Given the description of an element on the screen output the (x, y) to click on. 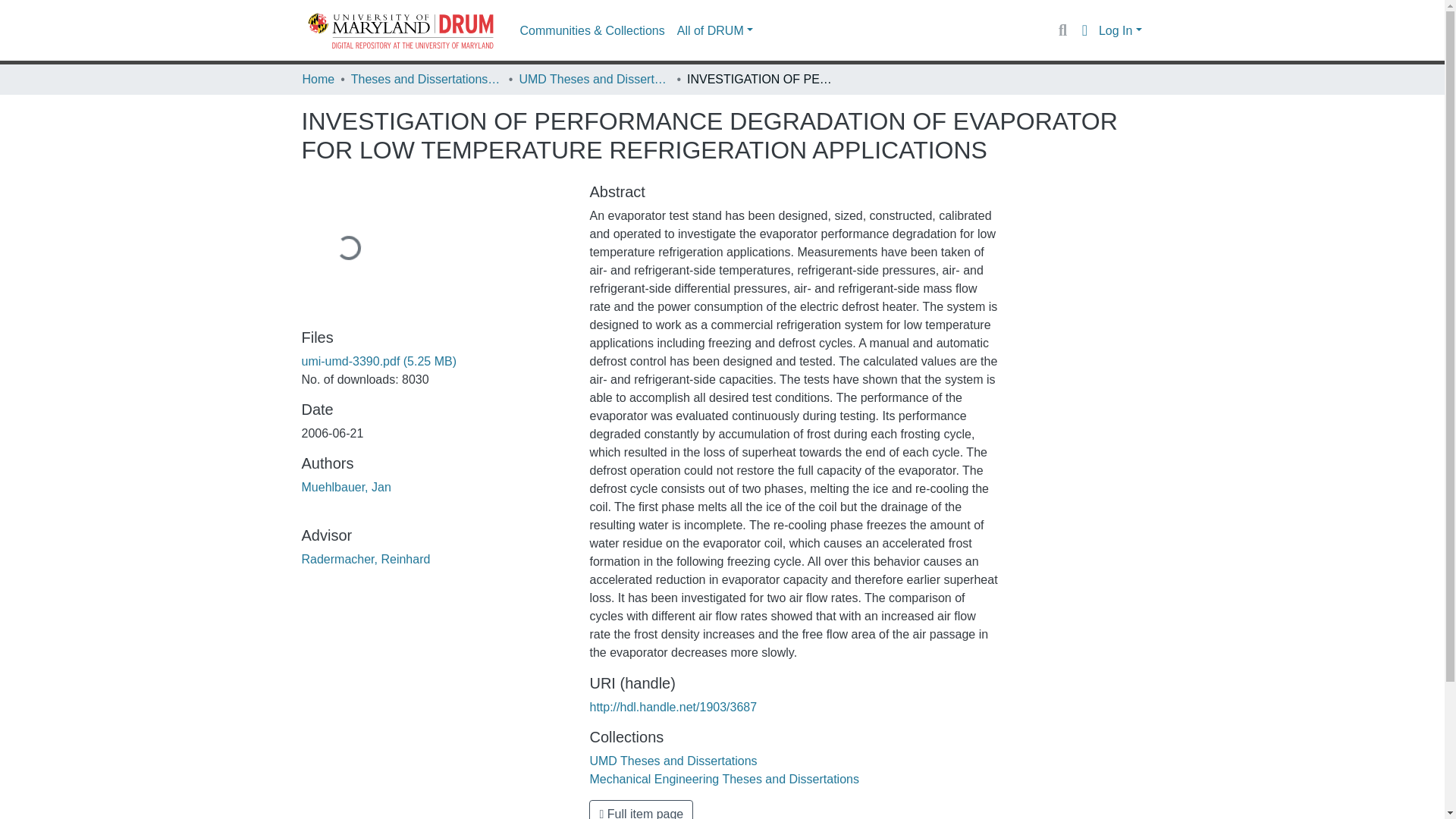
Search (1061, 30)
Muehlbauer, Jan (346, 486)
UMD Theses and Dissertations (673, 760)
Home (317, 79)
UMD Theses and Dissertations (593, 79)
Theses and Dissertations from UMD (426, 79)
Full item page (641, 809)
All of DRUM (714, 30)
Log In (1119, 30)
Mechanical Engineering Theses and Dissertations (724, 779)
